Given the description of an element on the screen output the (x, y) to click on. 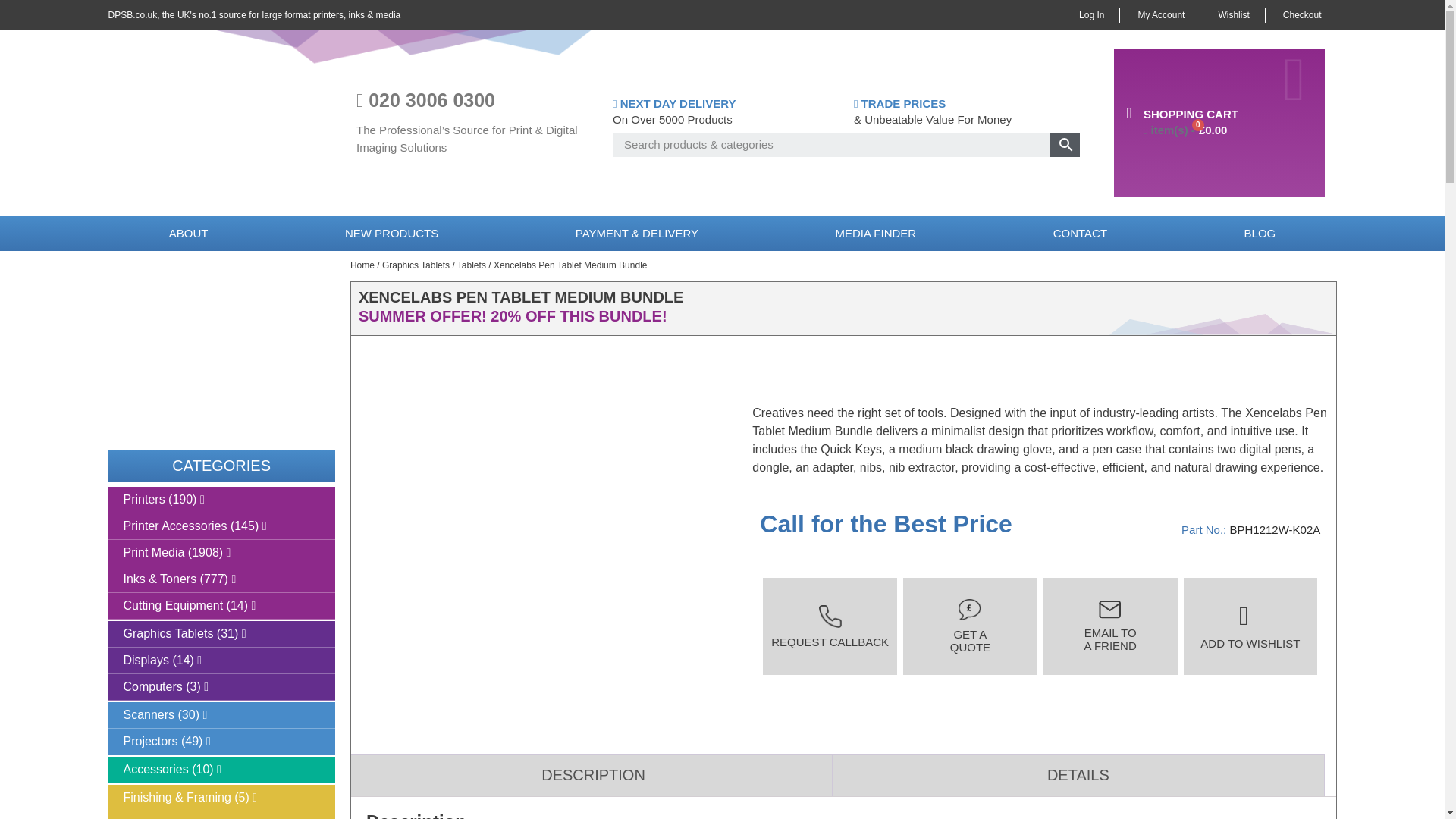
NEW PRODUCTS (391, 233)
Wishlist (1233, 14)
Checkout (1302, 14)
Log In (1091, 14)
ABOUT (188, 233)
020 3006 0300 (431, 99)
BLOG (1258, 233)
CONTACT (1079, 233)
My Account (1160, 14)
MEDIA FINDER (875, 233)
